Given the description of an element on the screen output the (x, y) to click on. 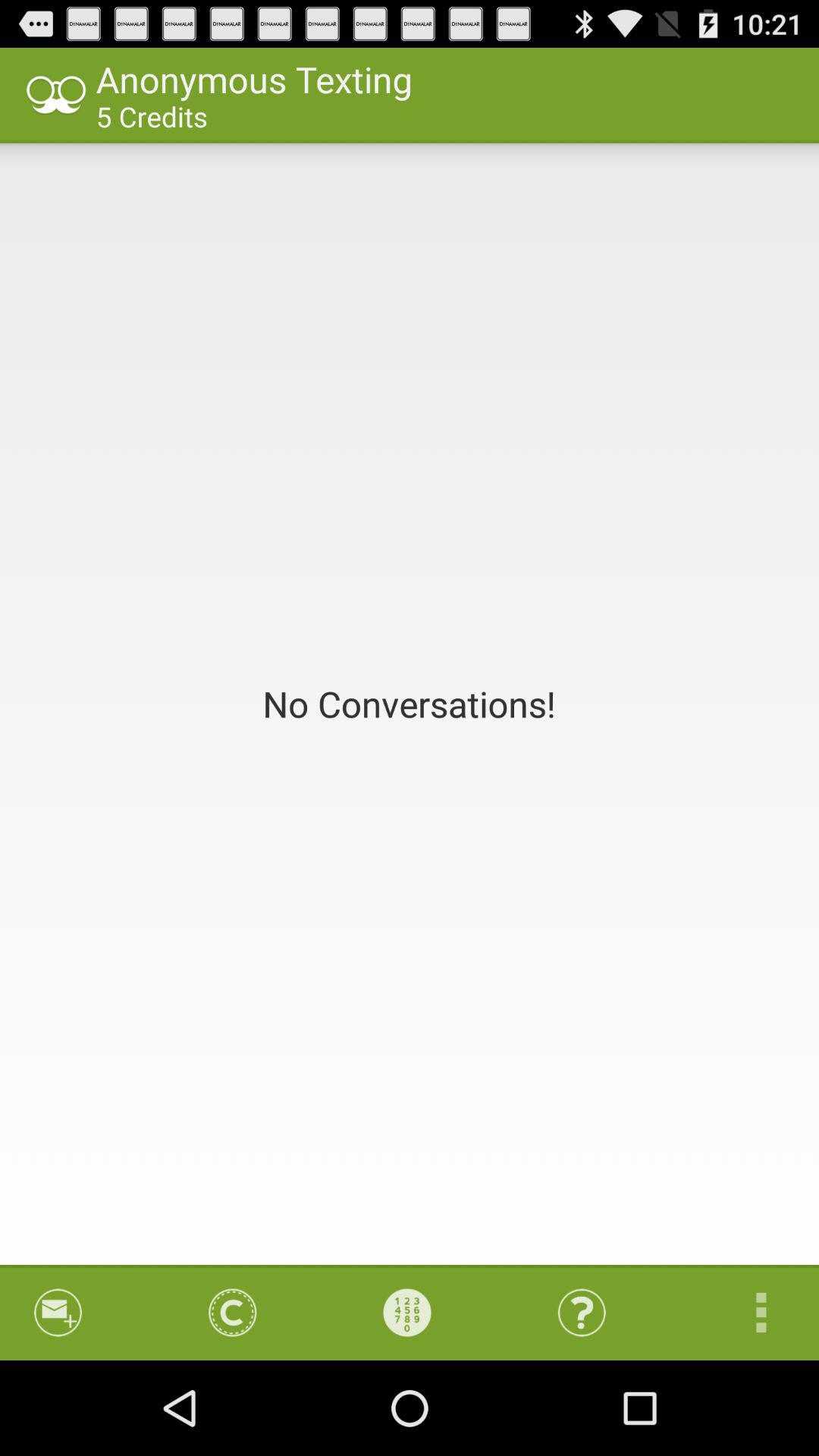
press the item below the 5 credits (409, 703)
